Given the description of an element on the screen output the (x, y) to click on. 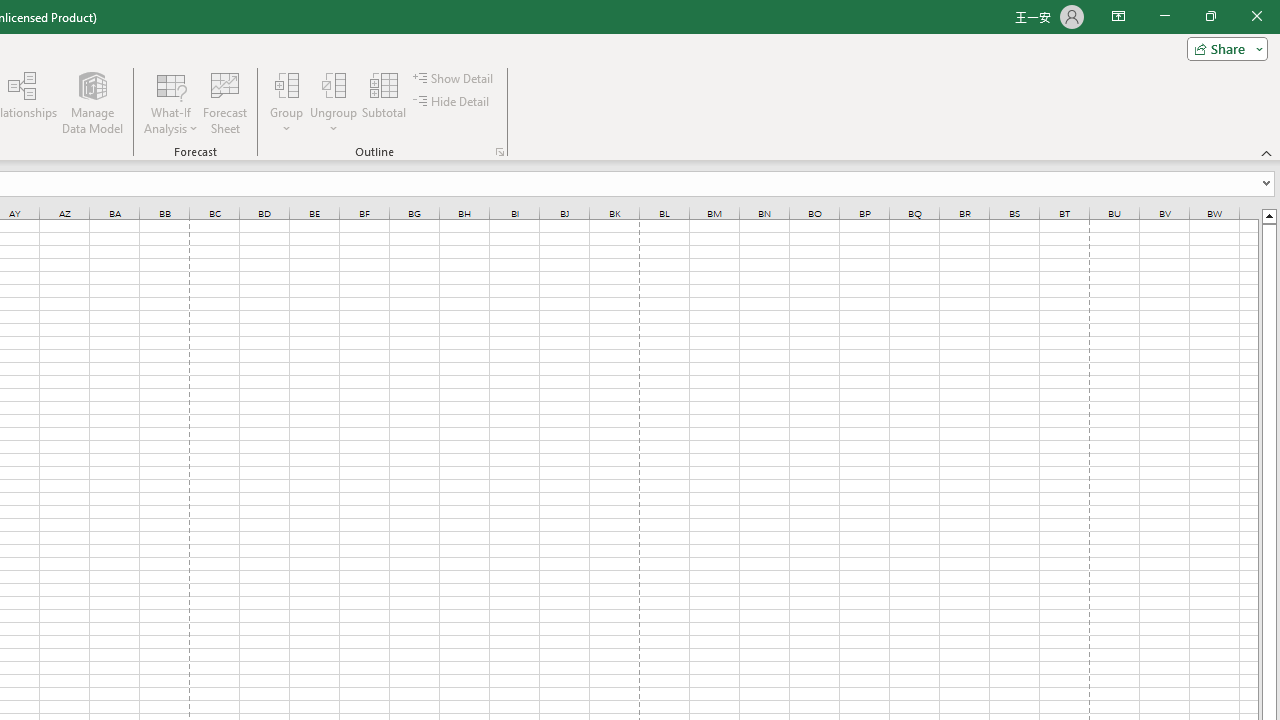
Subtotal (384, 102)
Hide Detail (452, 101)
